Given the description of an element on the screen output the (x, y) to click on. 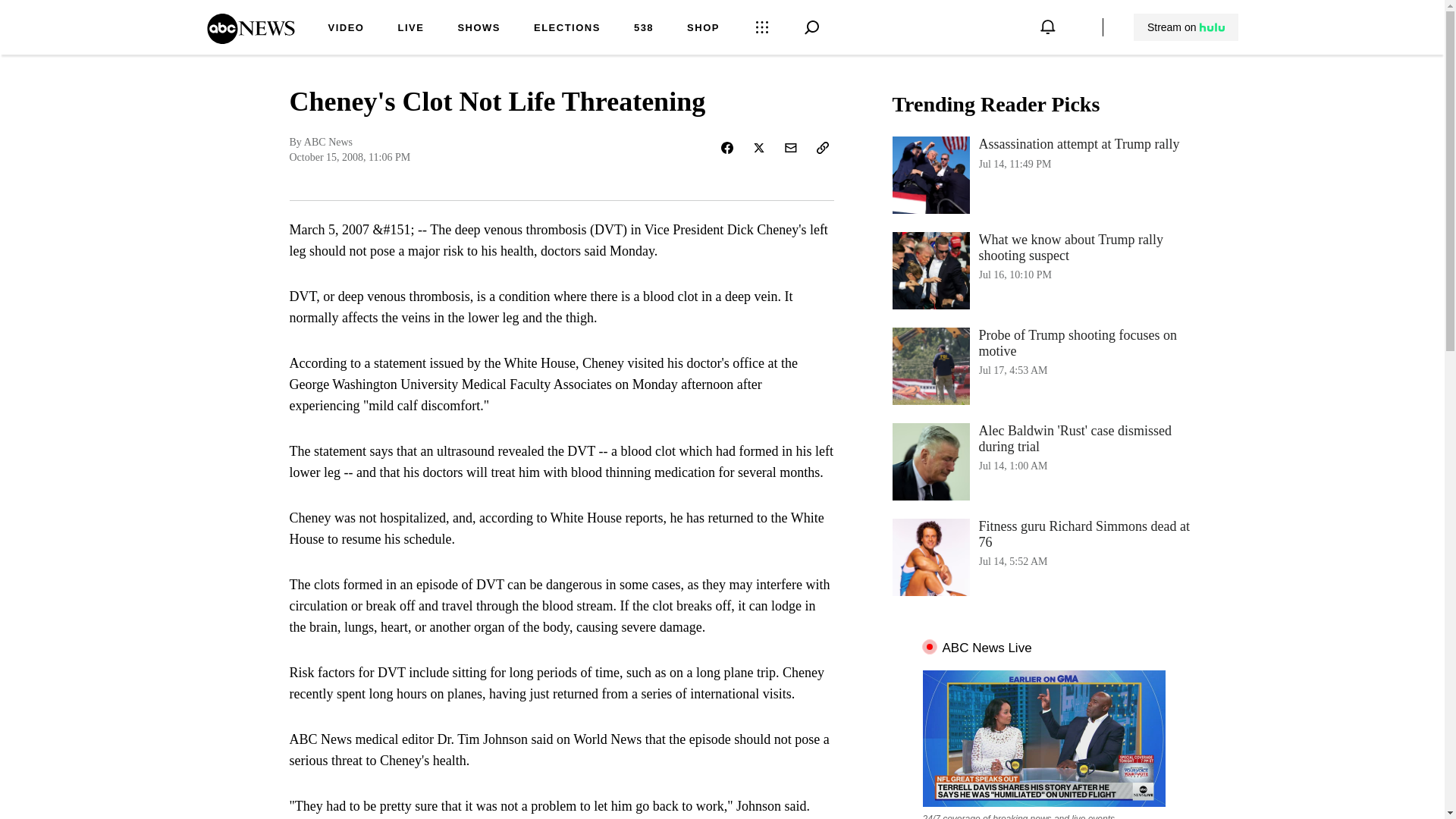
SHOWS (478, 28)
ABC News (250, 38)
ELECTIONS (566, 28)
SHOP (703, 28)
538 (1043, 174)
Stream on (643, 28)
VIDEO (1186, 26)
LIVE (345, 28)
Stream on (410, 28)
